Given the description of an element on the screen output the (x, y) to click on. 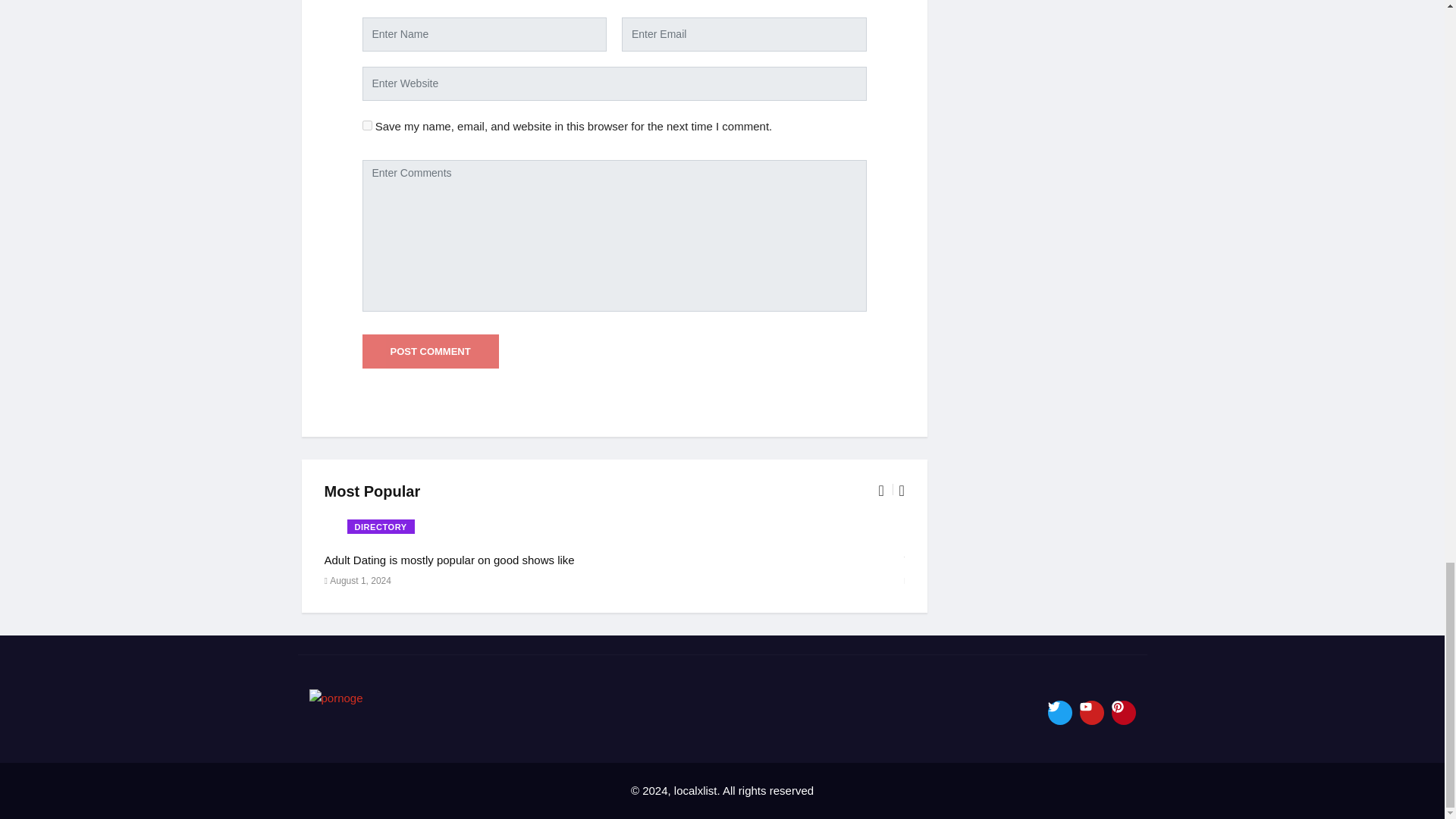
yes (367, 125)
Post Comment (430, 351)
